Given the description of an element on the screen output the (x, y) to click on. 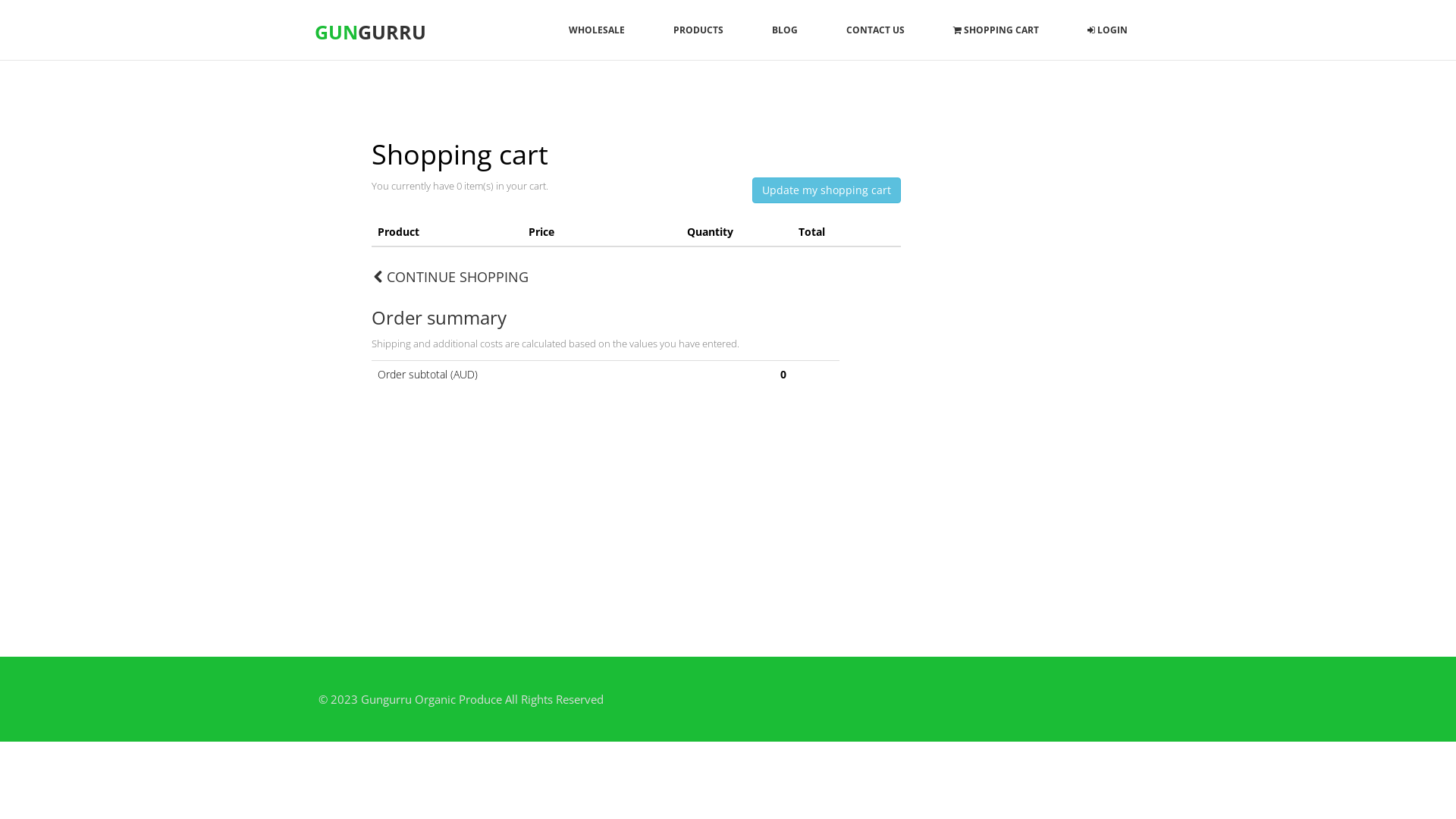
PRODUCTS Element type: text (697, 29)
SHOPPING CART Element type: text (995, 29)
Update my shopping cart Element type: text (826, 190)
WHOLESALE Element type: text (596, 29)
BLOG Element type: text (784, 29)
GUNGURRU Element type: text (370, 31)
CONTACT US Element type: text (875, 29)
LOGIN Element type: text (1107, 29)
CONTINUE SHOPPING Element type: text (451, 277)
